Given the description of an element on the screen output the (x, y) to click on. 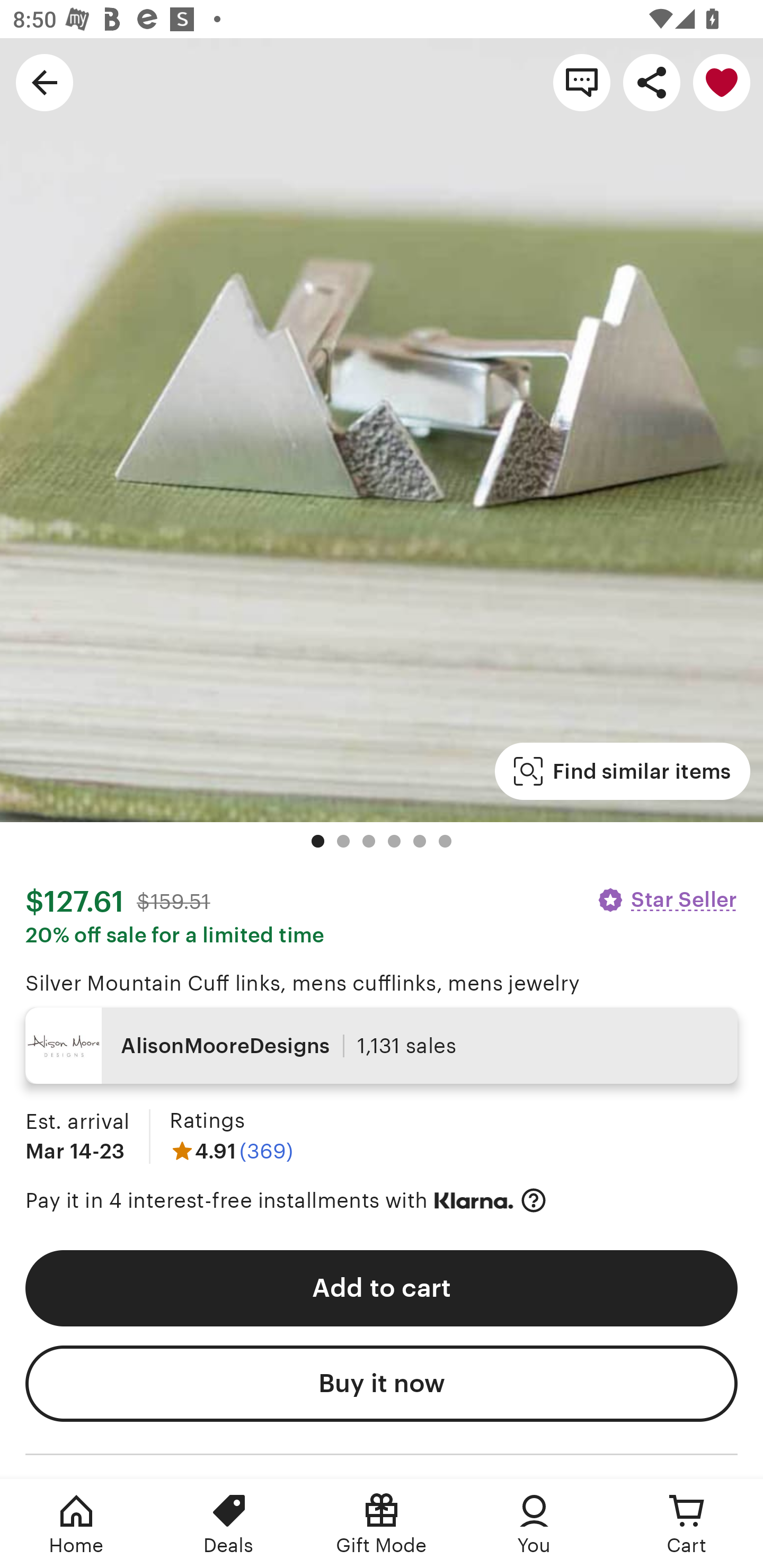
Navigate up (44, 81)
Contact shop (581, 81)
Share (651, 81)
Find similar items (622, 771)
Star Seller (666, 899)
AlisonMooreDesigns 1,131 sales (381, 1045)
Ratings (206, 1120)
4.91 (369) (231, 1150)
Add to cart (381, 1287)
Buy it now (381, 1383)
Home (76, 1523)
Gift Mode (381, 1523)
You (533, 1523)
Cart (686, 1523)
